Given the description of an element on the screen output the (x, y) to click on. 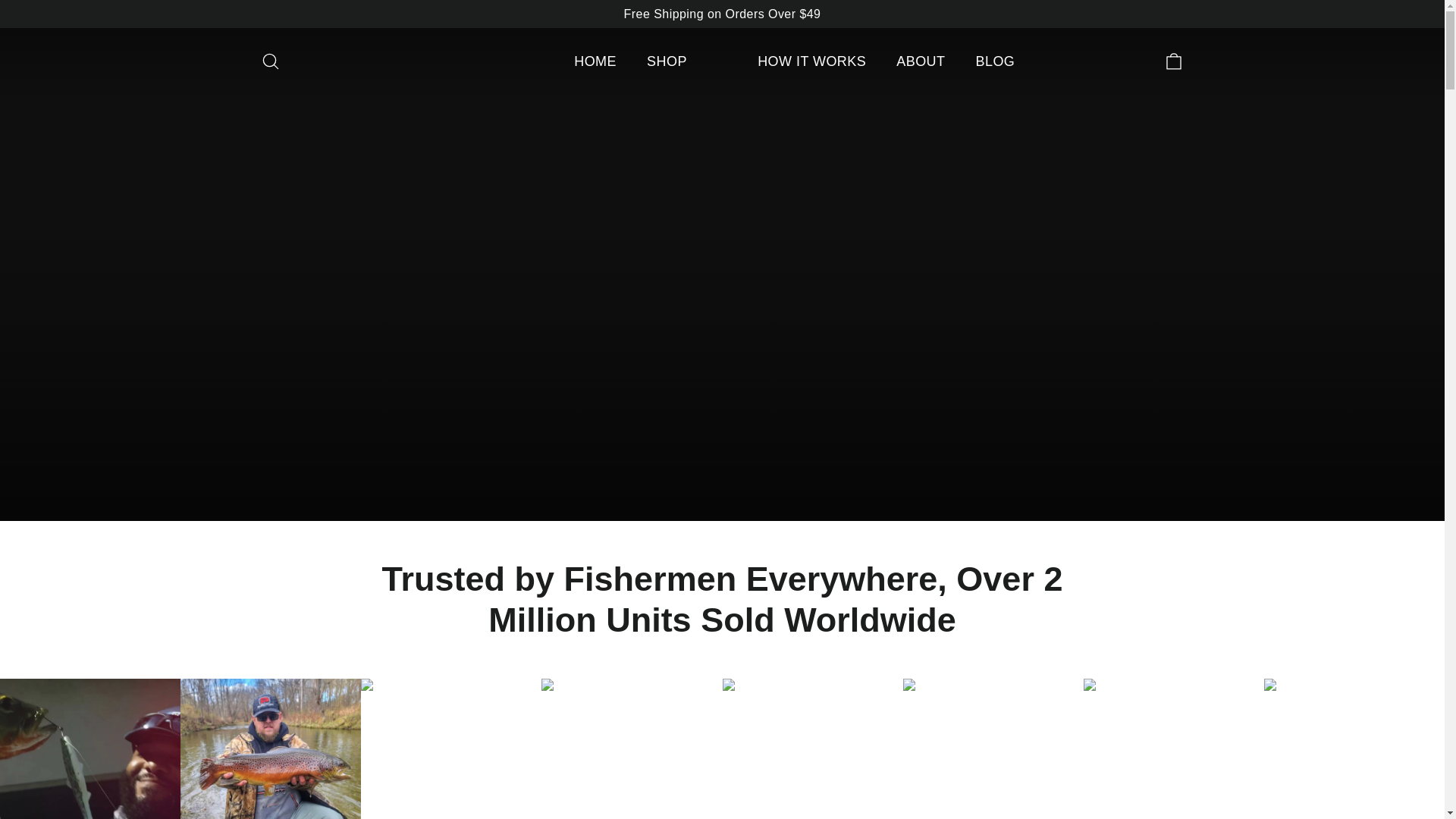
BLOG (1173, 61)
HOW IT WORKS (994, 61)
HOME (269, 61)
ABOUT (811, 61)
SHOP (595, 61)
icon-bag-minimal (919, 61)
icon-search (666, 61)
